Given the description of an element on the screen output the (x, y) to click on. 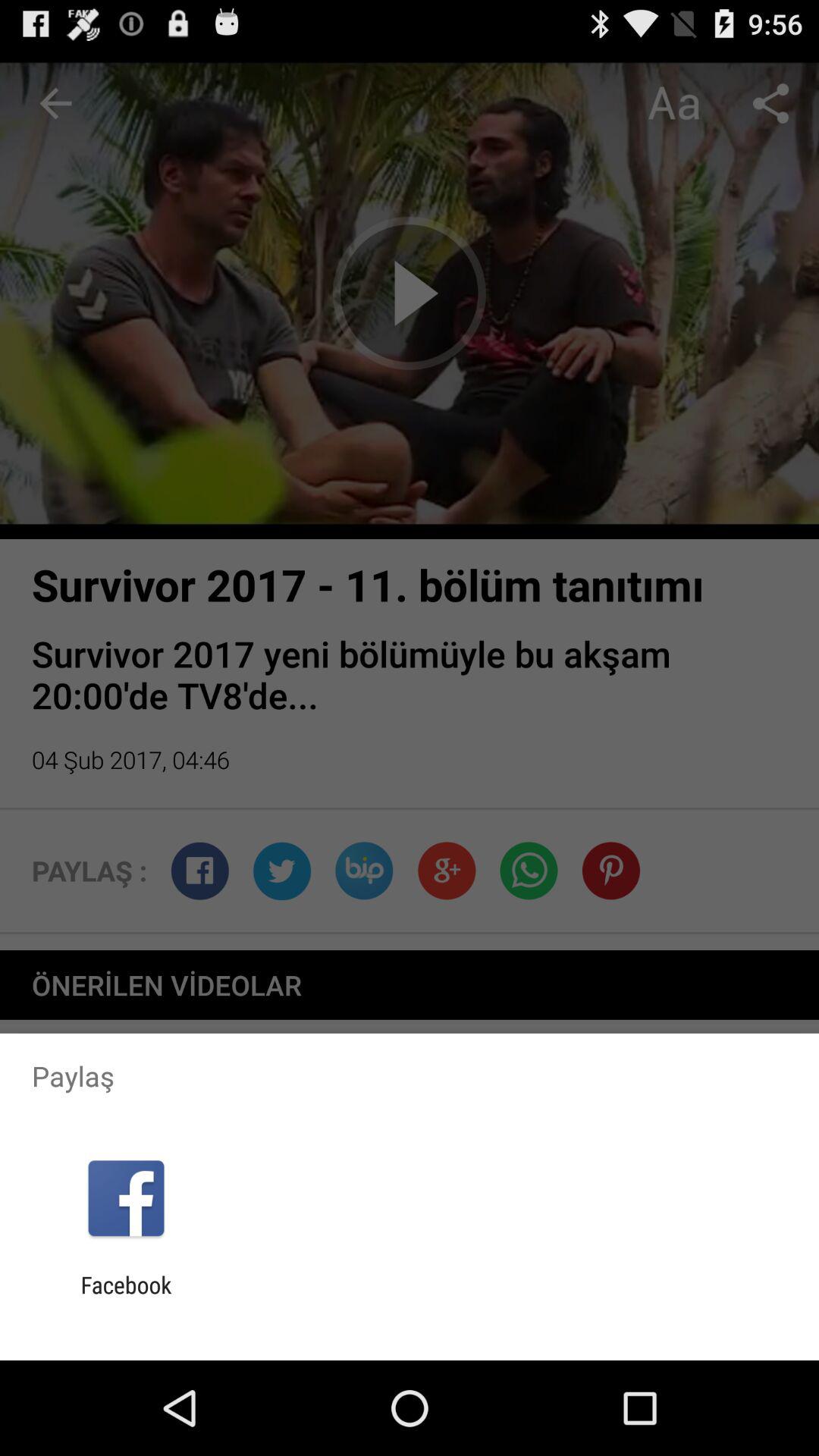
launch facebook item (125, 1298)
